Given the description of an element on the screen output the (x, y) to click on. 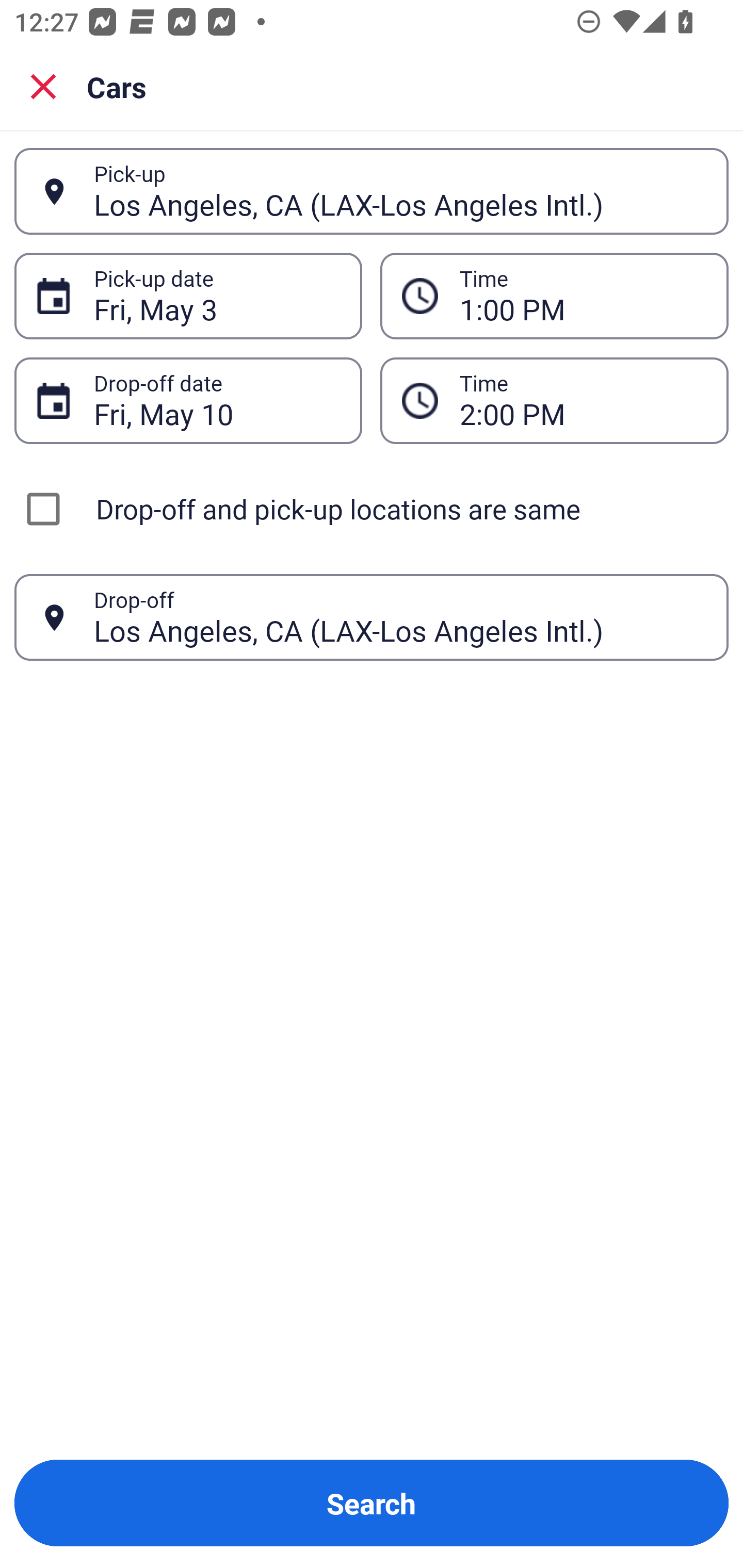
Close search screen (43, 86)
Los Angeles, CA (LAX-Los Angeles Intl.) Pick-up (371, 191)
Los Angeles, CA (LAX-Los Angeles Intl.) (399, 191)
Fri, May 3 Pick-up date (188, 295)
1:00 PM (554, 295)
Fri, May 3 (216, 296)
1:00 PM (582, 296)
Fri, May 10 Drop-off date (188, 400)
2:00 PM (554, 400)
Fri, May 10 (216, 400)
2:00 PM (582, 400)
Drop-off and pick-up locations are same (371, 508)
Los Angeles, CA (LAX-Los Angeles Intl.) Drop-off (371, 616)
Los Angeles, CA (LAX-Los Angeles Intl.) (399, 616)
Search Button Search (371, 1502)
